Given the description of an element on the screen output the (x, y) to click on. 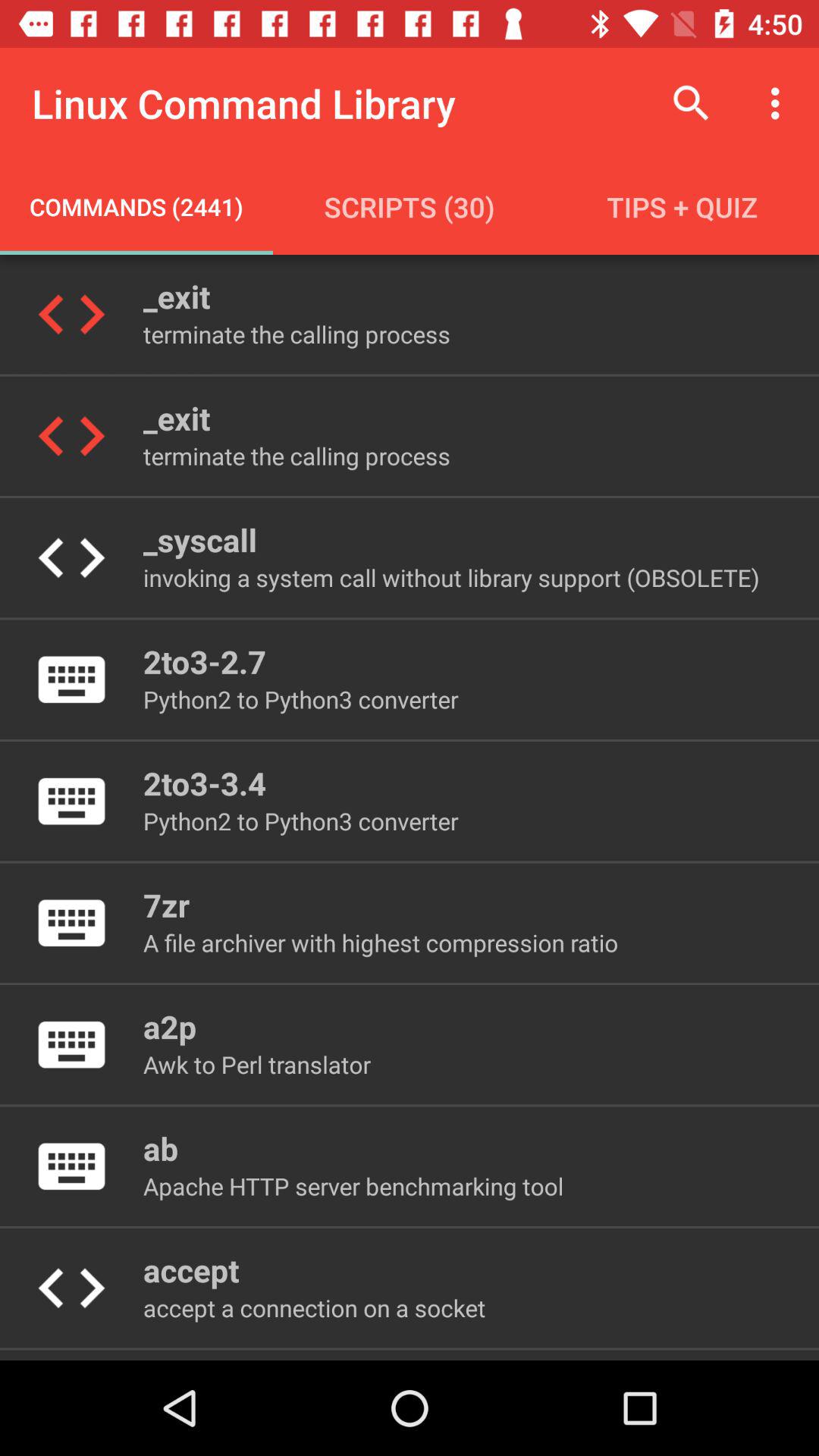
select the icon below the ab icon (353, 1185)
